Given the description of an element on the screen output the (x, y) to click on. 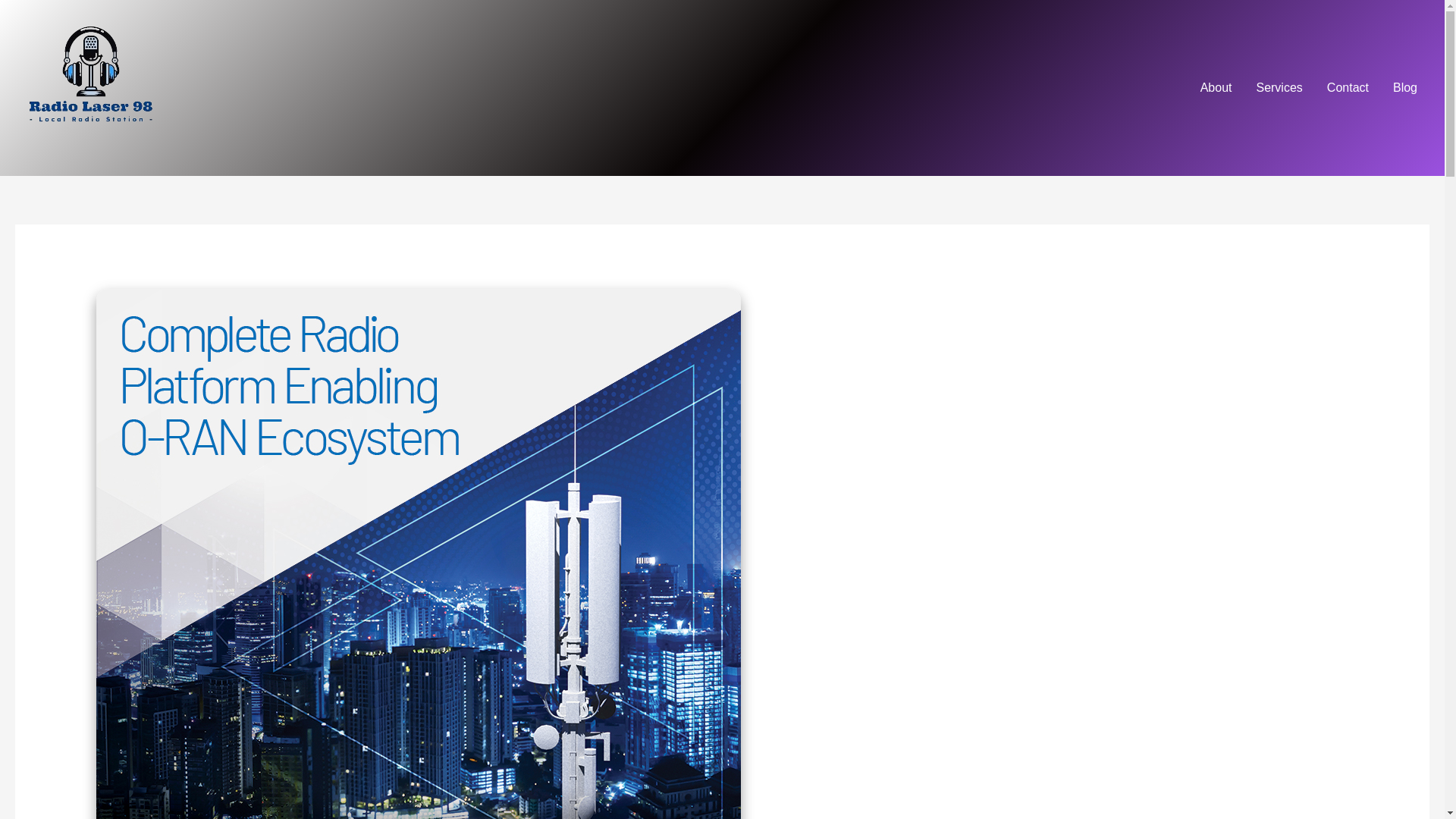
Blog (1404, 87)
Services (1278, 87)
About (1216, 87)
Contact (1347, 87)
